Given the description of an element on the screen output the (x, y) to click on. 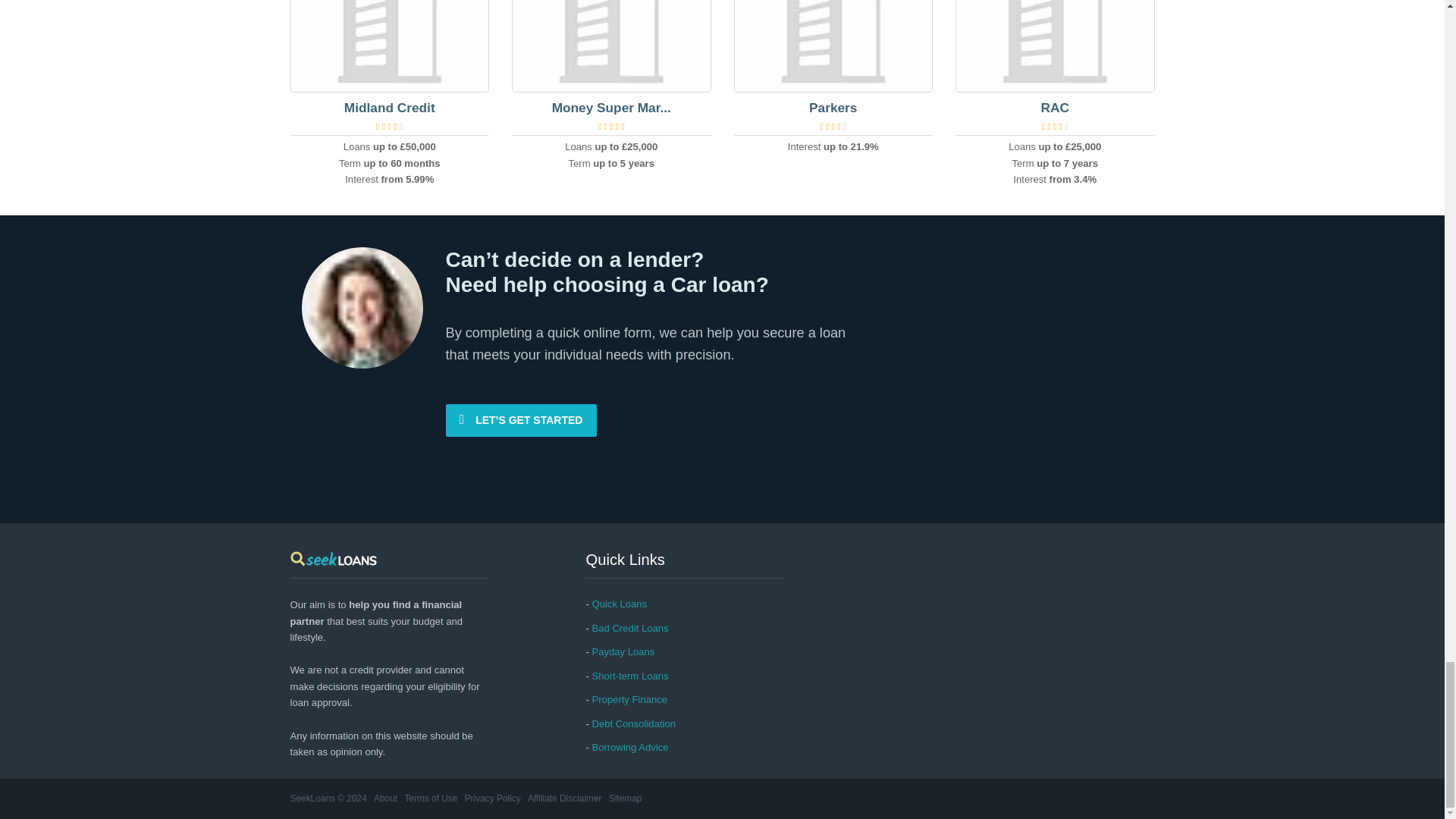
Midland Credit (389, 107)
Parkers (833, 107)
Money Super Mar... (611, 107)
RAC (1054, 107)
